Given the description of an element on the screen output the (x, y) to click on. 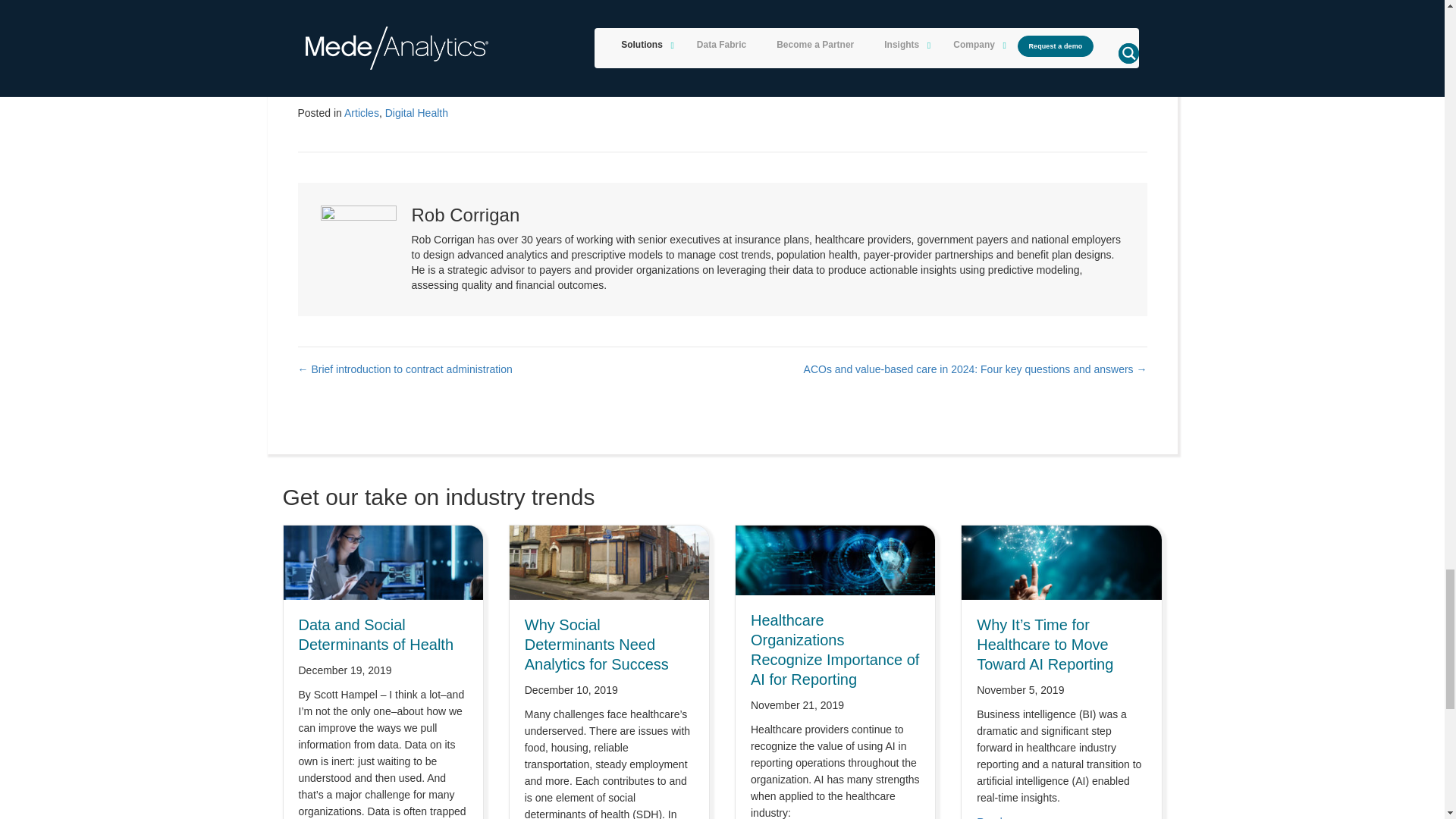
Why Social Determinants Need Analytics for Success (596, 644)
Why Social Determinants Need Analytics for Success (609, 562)
Data and Social Determinants of Health (376, 634)
Data and Social Determinants of Health (383, 562)
